Given the description of an element on the screen output the (x, y) to click on. 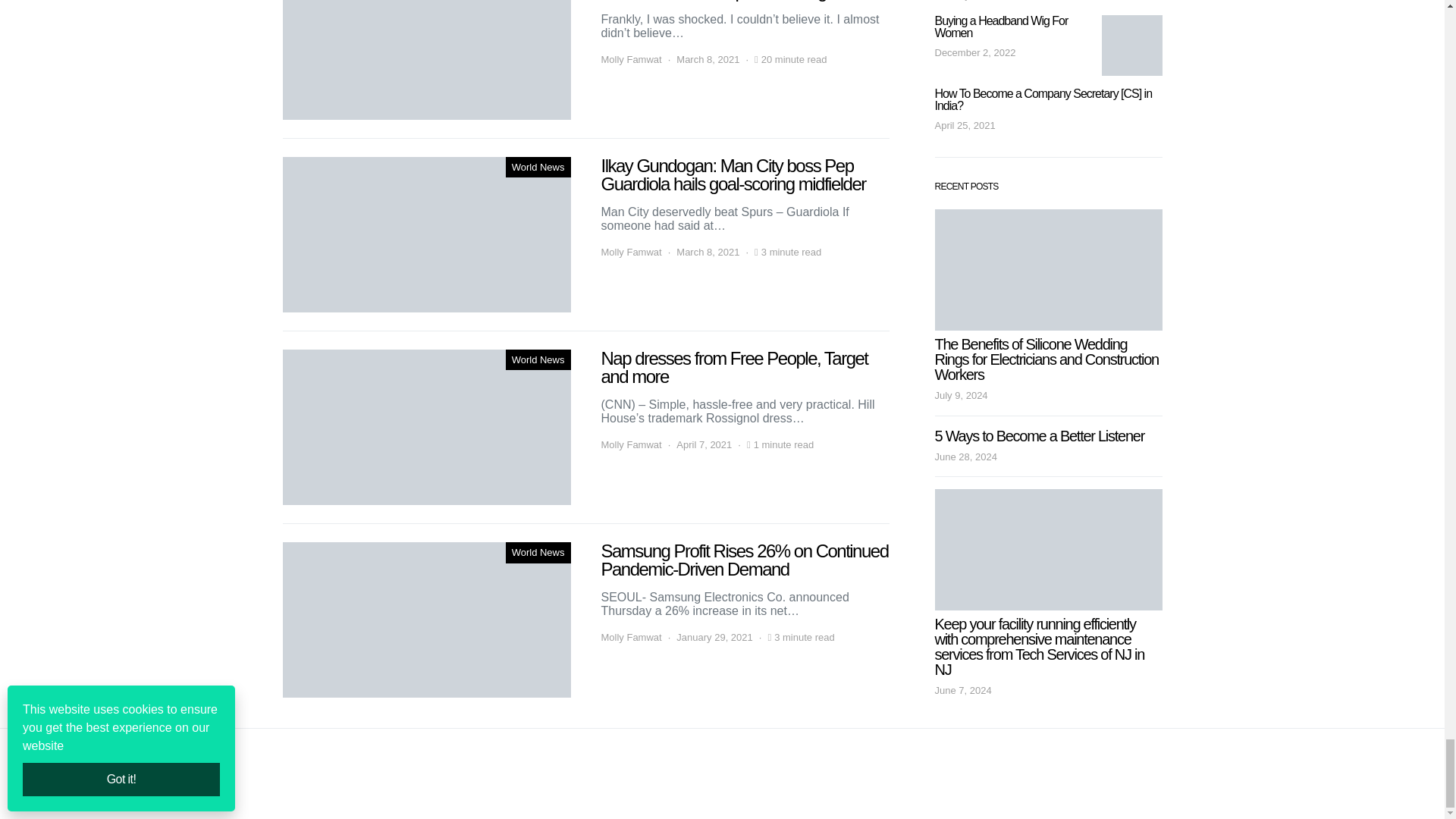
Molly Famwat (630, 58)
World News (537, 360)
World News (537, 167)
View all posts by Molly Famwat (630, 444)
View all posts by Molly Famwat (630, 58)
World News (537, 552)
Nap dresses from Free People, Target and more (426, 427)
Molly Famwat (630, 252)
View all posts by Molly Famwat (630, 637)
Molly Famwat (630, 444)
View all posts by Molly Famwat (630, 252)
